Given the description of an element on the screen output the (x, y) to click on. 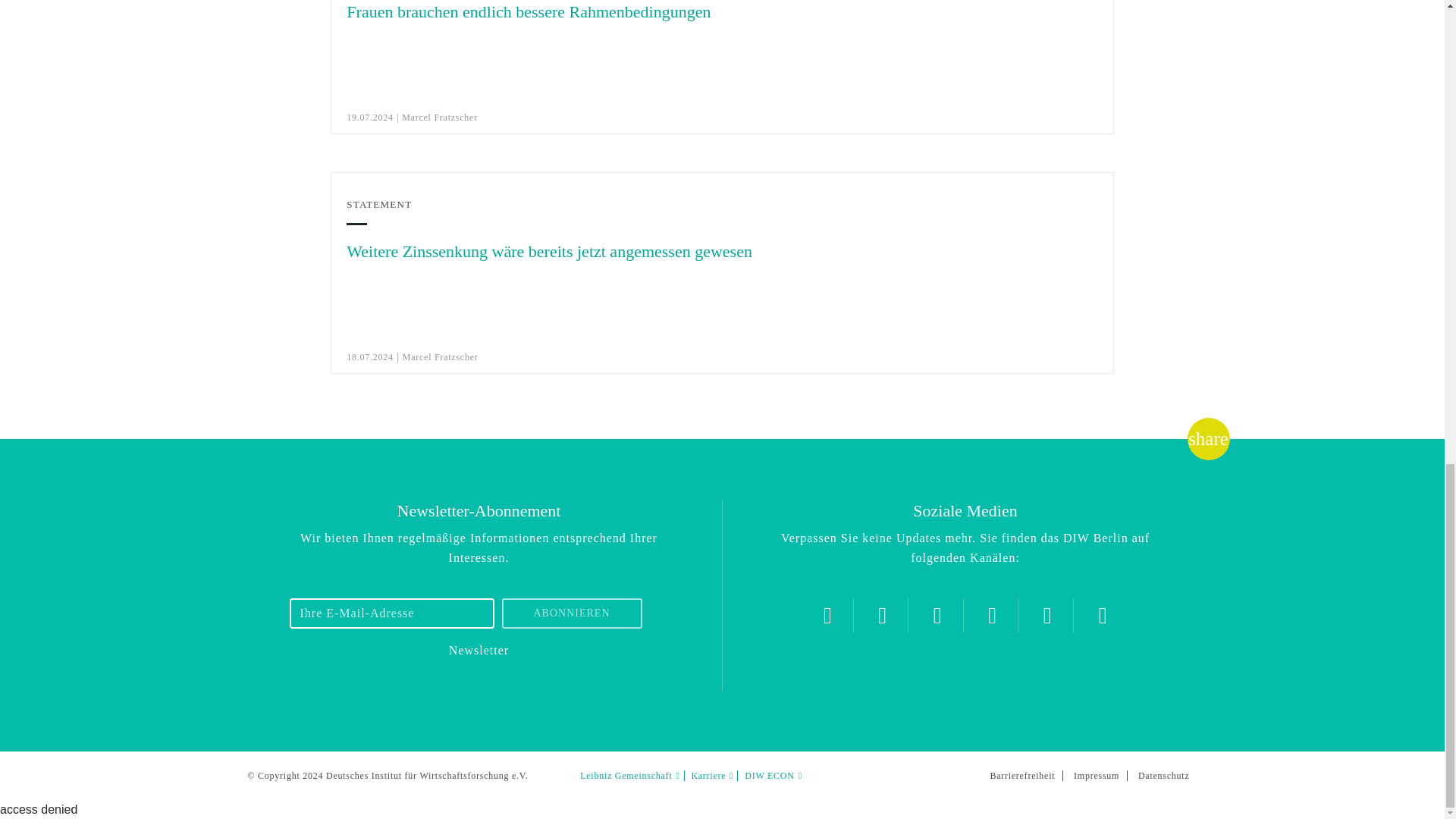
LinkedIn (1047, 615)
Youtube (991, 615)
RSS feeds (1102, 615)
Twitter (827, 615)
Instagram (882, 615)
Facebook (937, 615)
Teilen (1208, 438)
